Given the description of an element on the screen output the (x, y) to click on. 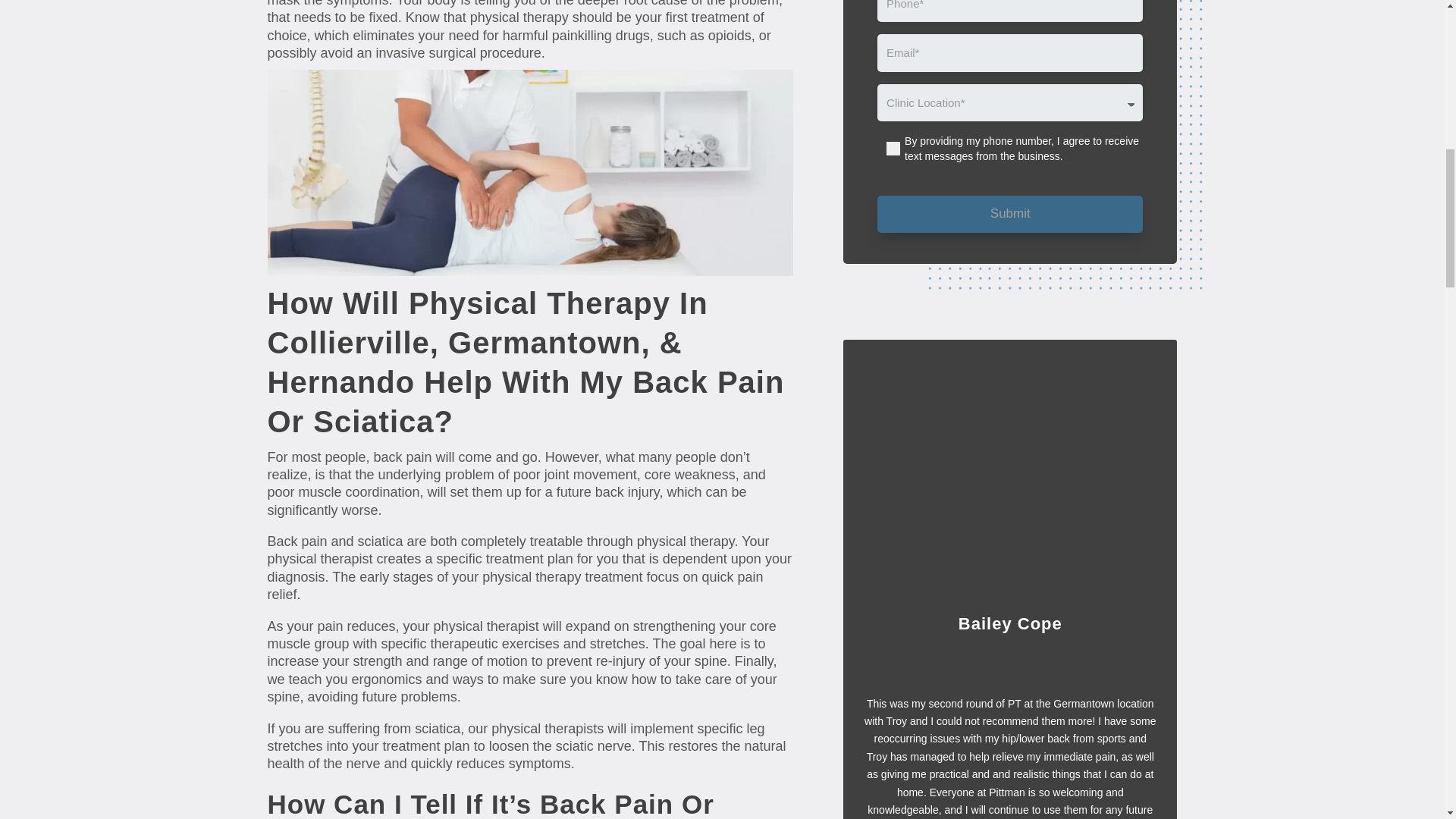
Submit (1009, 213)
